Given the description of an element on the screen output the (x, y) to click on. 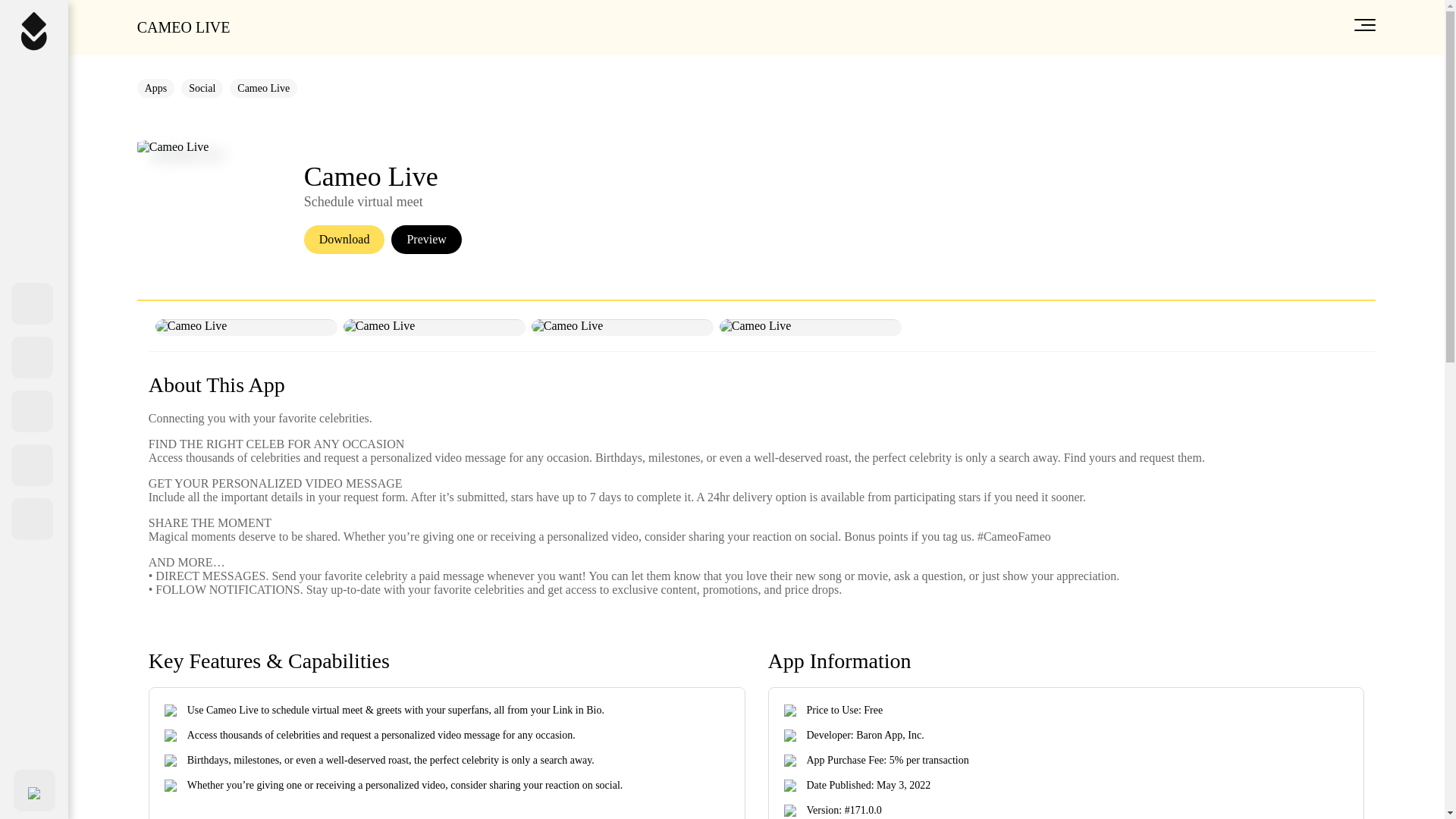
Download (344, 239)
Apps (155, 87)
Preview (426, 239)
Social (201, 87)
